Given the description of an element on the screen output the (x, y) to click on. 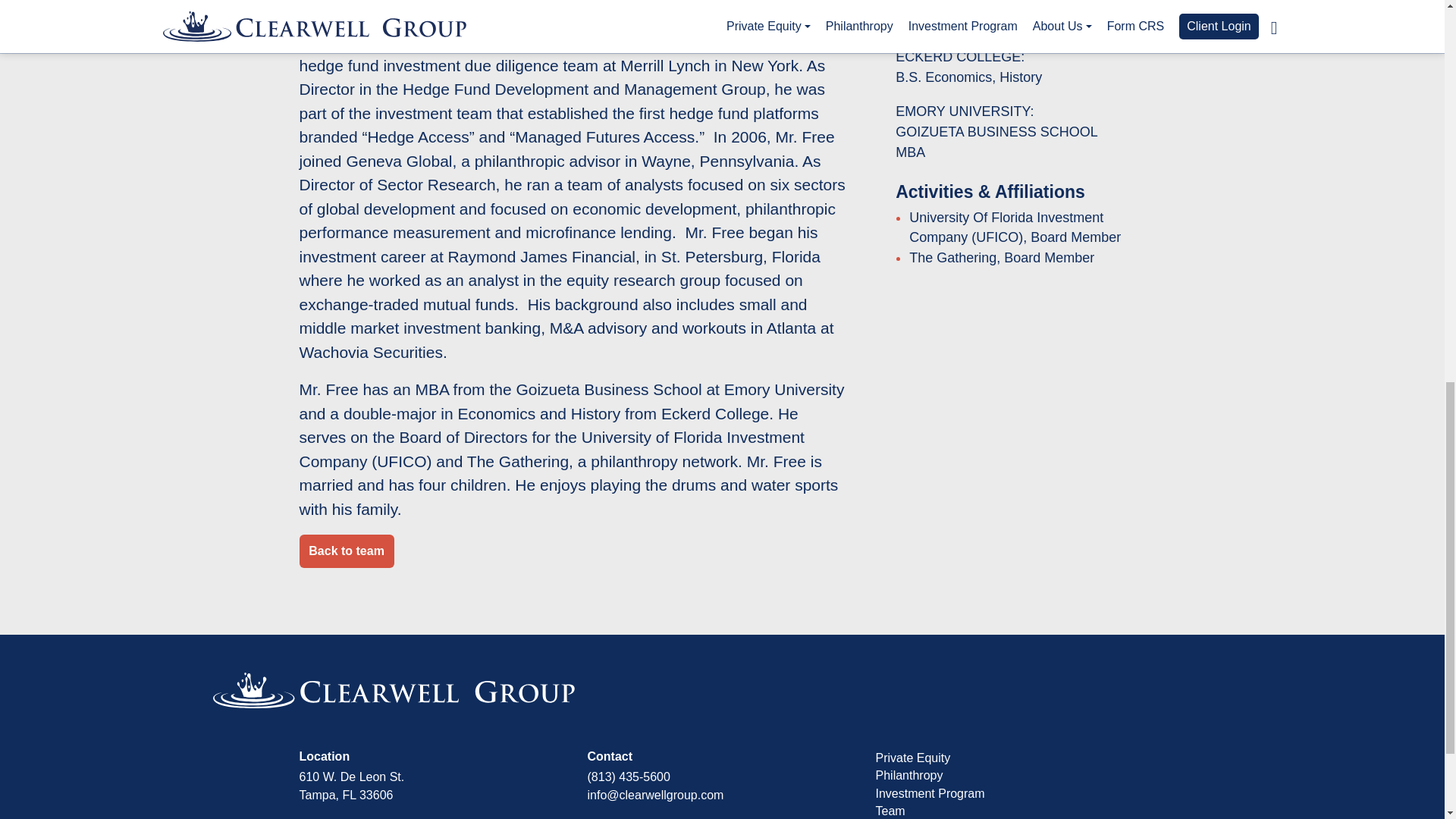
Investment Program (929, 793)
Back to team (345, 550)
Team (889, 810)
Private Equity (912, 757)
Back to overview (345, 550)
Philanthropy (908, 775)
